Given the description of an element on the screen output the (x, y) to click on. 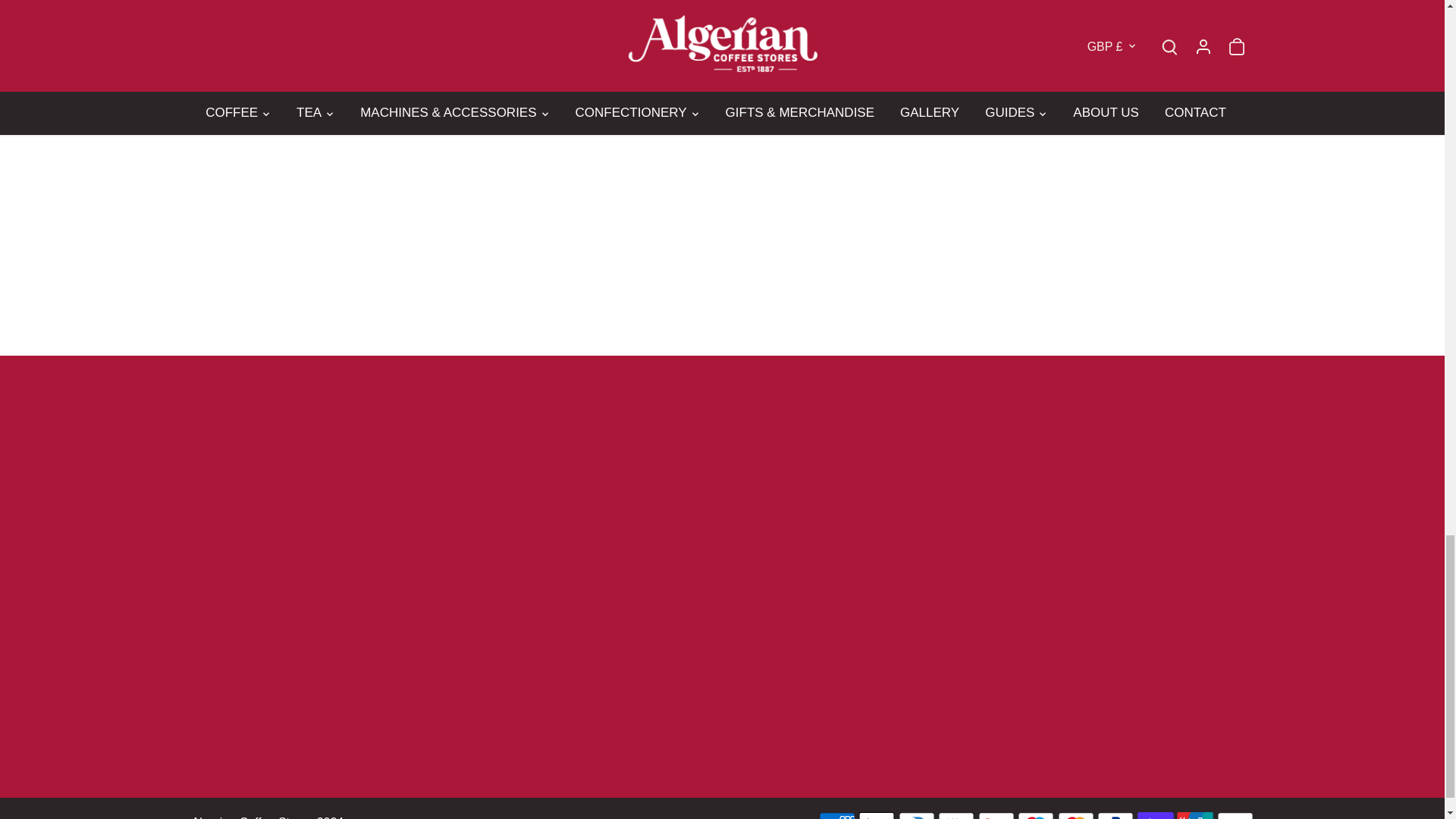
Diners Club (916, 815)
Discover (955, 815)
American Express (837, 815)
Google Pay (996, 815)
Maestro (1035, 815)
Apple Pay (877, 815)
